Given the description of an element on the screen output the (x, y) to click on. 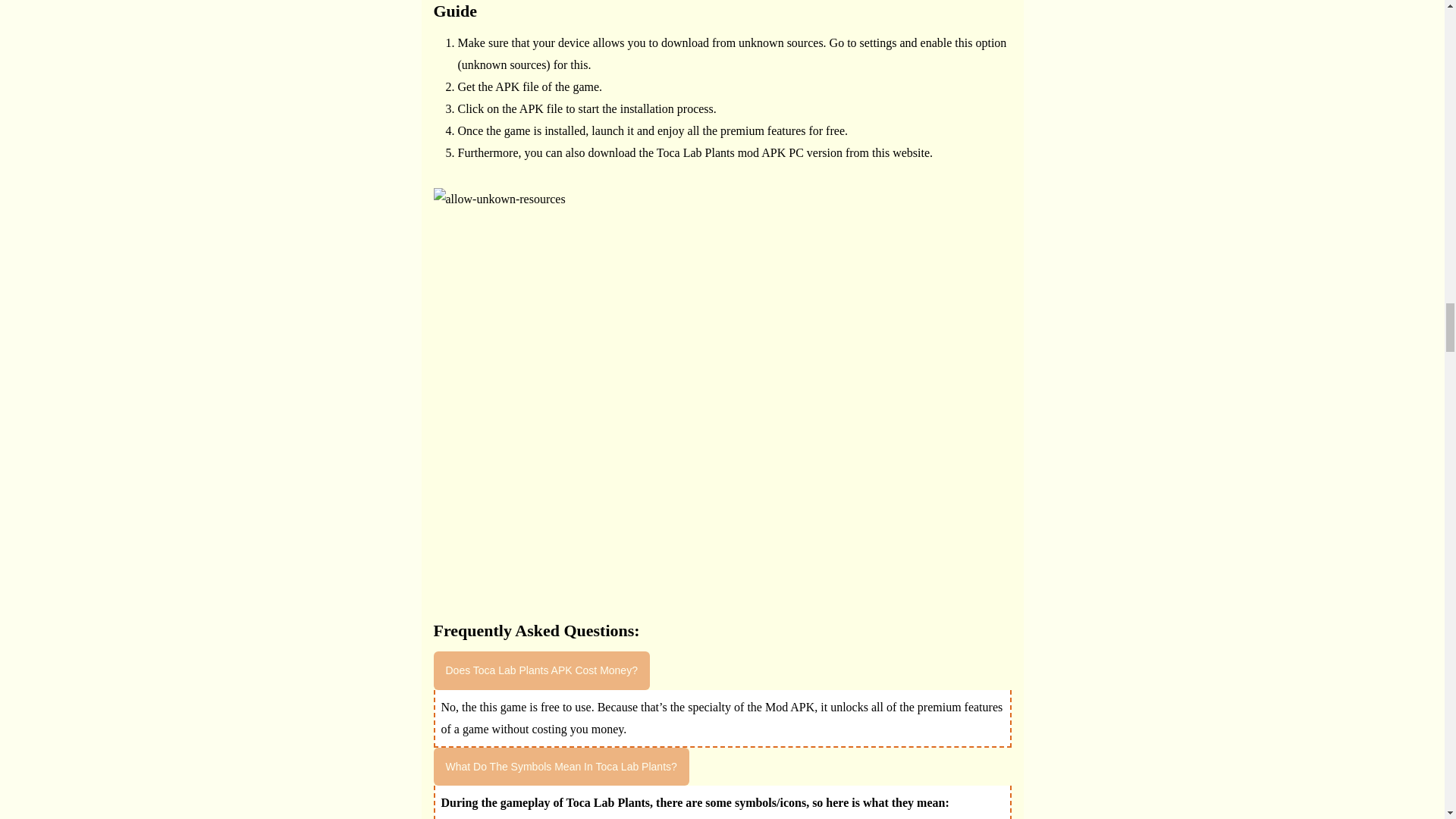
What Do The Symbols Mean In Toca Lab Plants? (560, 766)
Does Toca Lab Plants APK Cost Money? (541, 670)
